Given the description of an element on the screen output the (x, y) to click on. 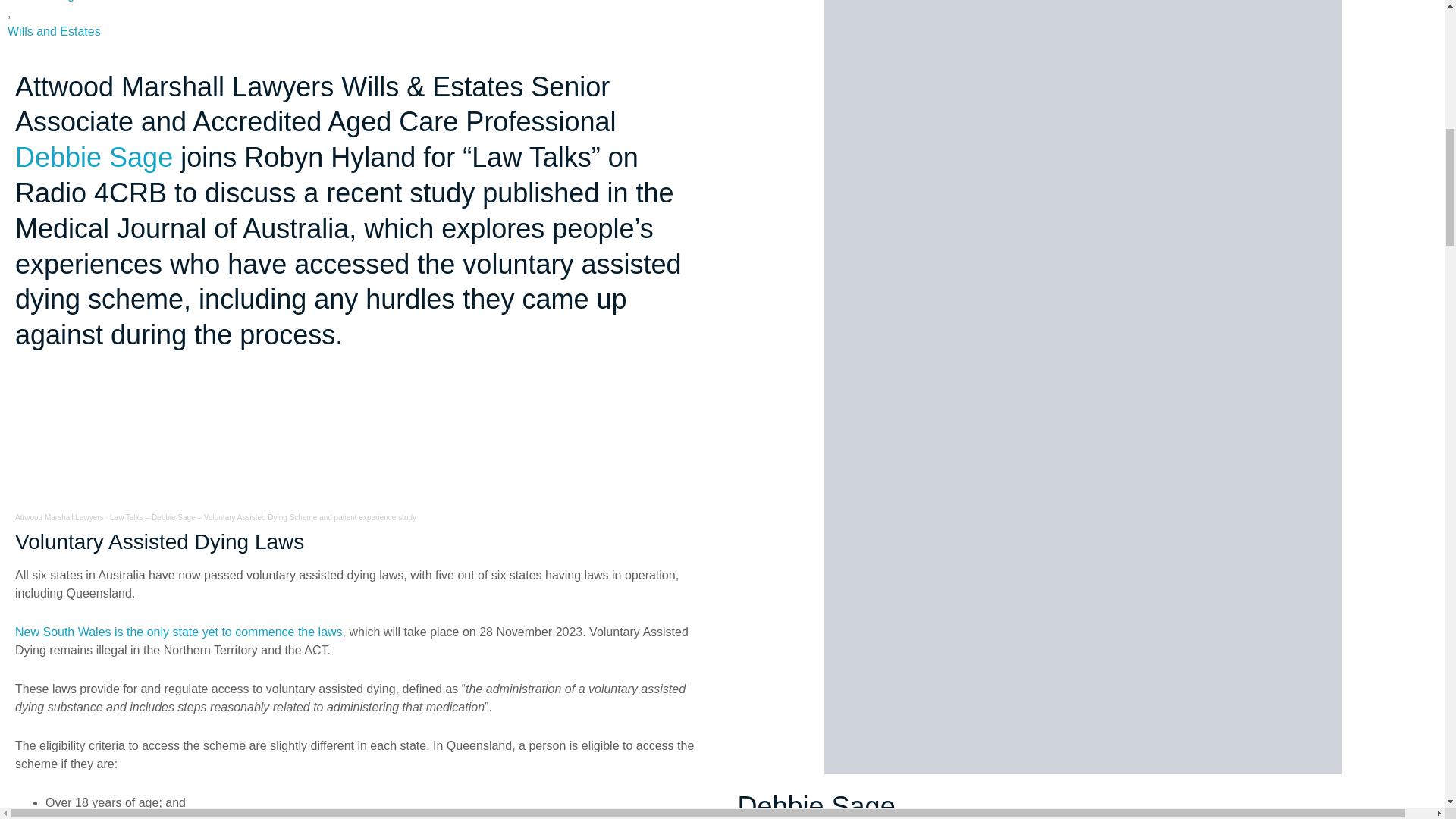
Attwood Marshall Lawyers (58, 517)
